Given the description of an element on the screen output the (x, y) to click on. 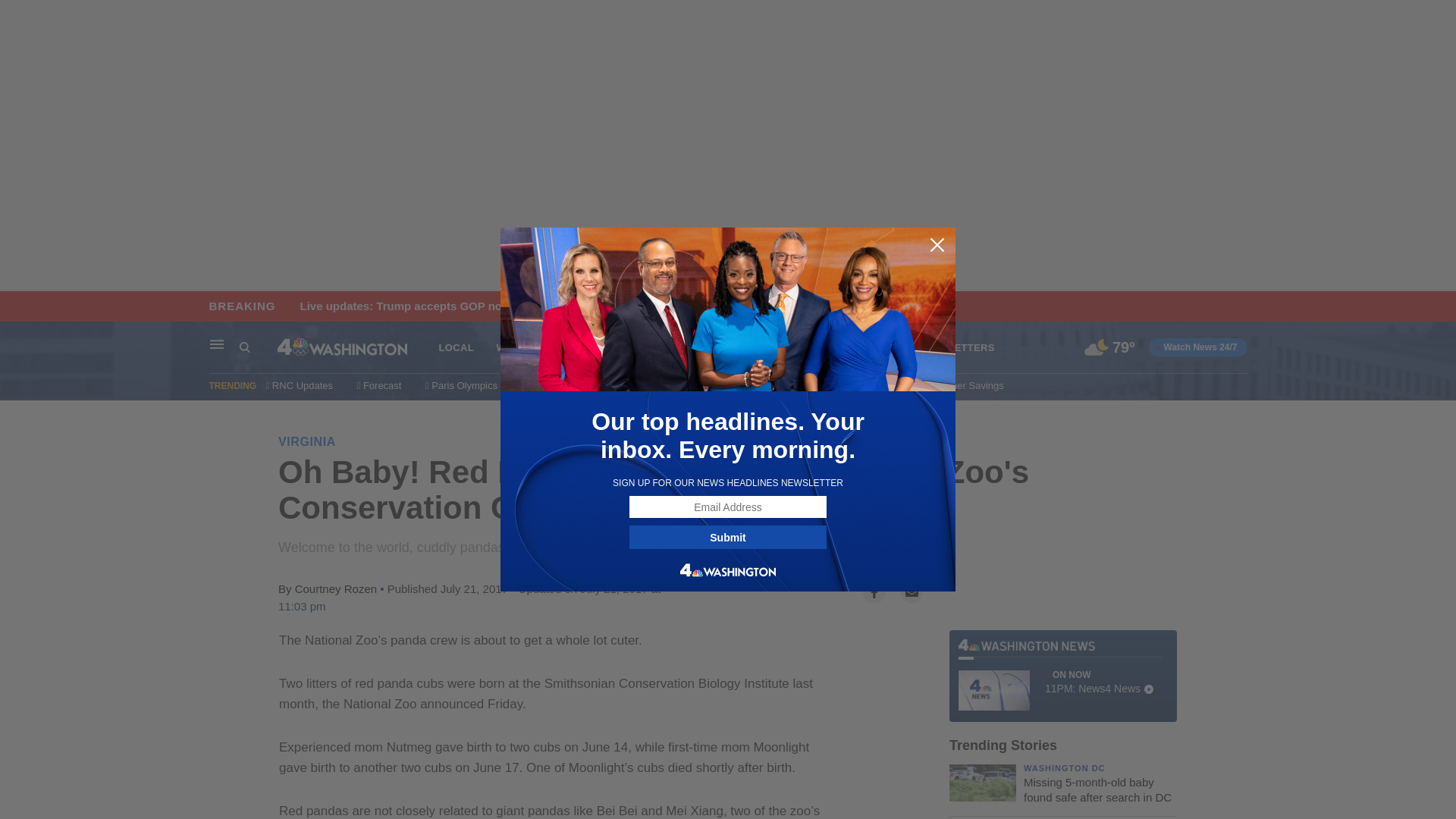
Main Navigation (216, 344)
Search (244, 346)
THE SCENE (692, 347)
Our news standards (854, 385)
NEWSLETTERS (955, 347)
SPORTS (874, 347)
Skip to content (16, 306)
WEATHER (521, 347)
LOCAL (455, 347)
INVESTIGATIONS (786, 347)
Search (257, 346)
VIRGINIA (307, 441)
